Given the description of an element on the screen output the (x, y) to click on. 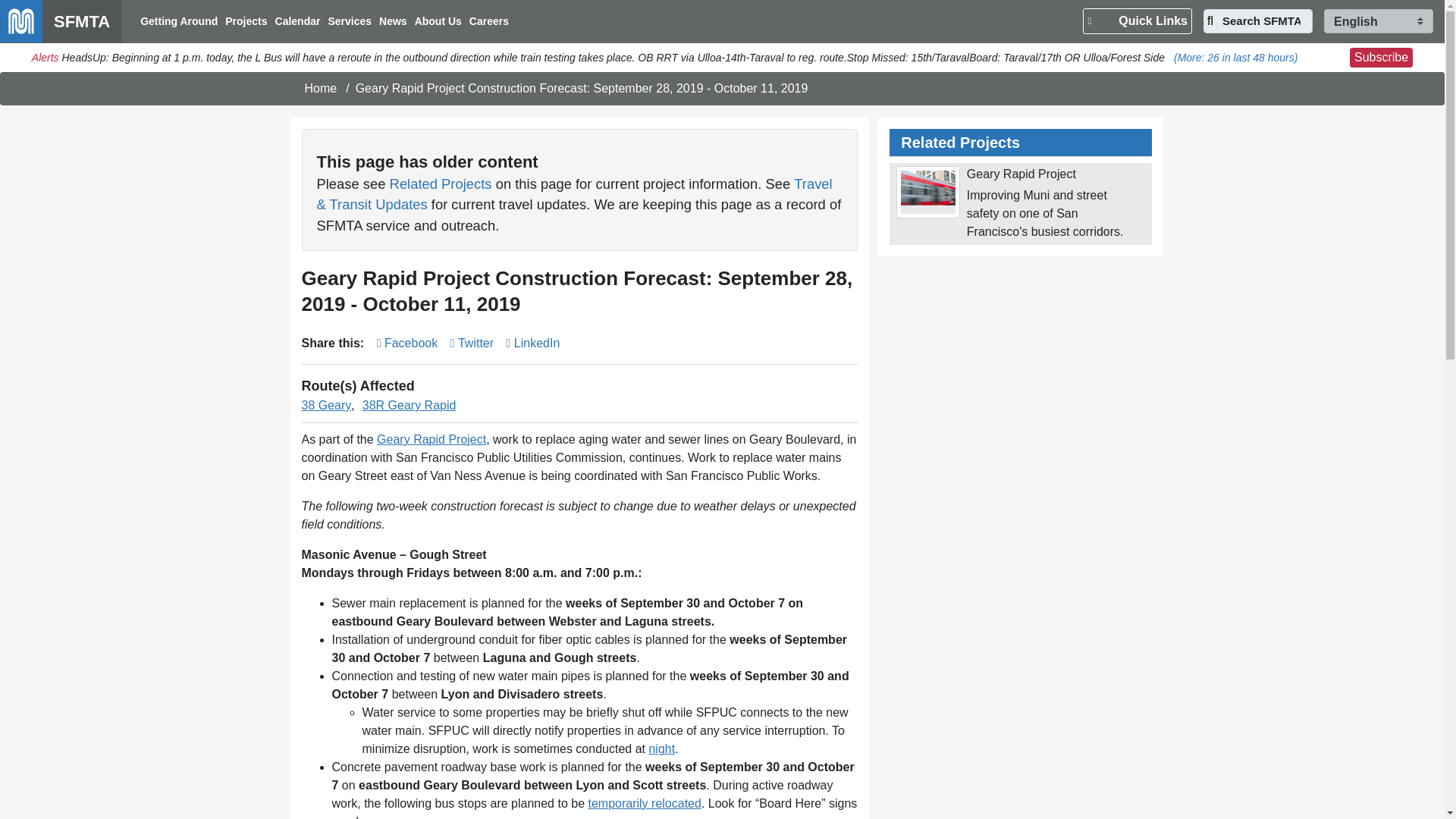
Twitter (471, 342)
Careers (488, 21)
night (661, 748)
Facebook (407, 342)
38 Geary (326, 404)
Home (320, 88)
Geary Rapid Project (1020, 173)
LinkedIn (533, 342)
Home (60, 21)
Subscribe (1380, 57)
